Given the description of an element on the screen output the (x, y) to click on. 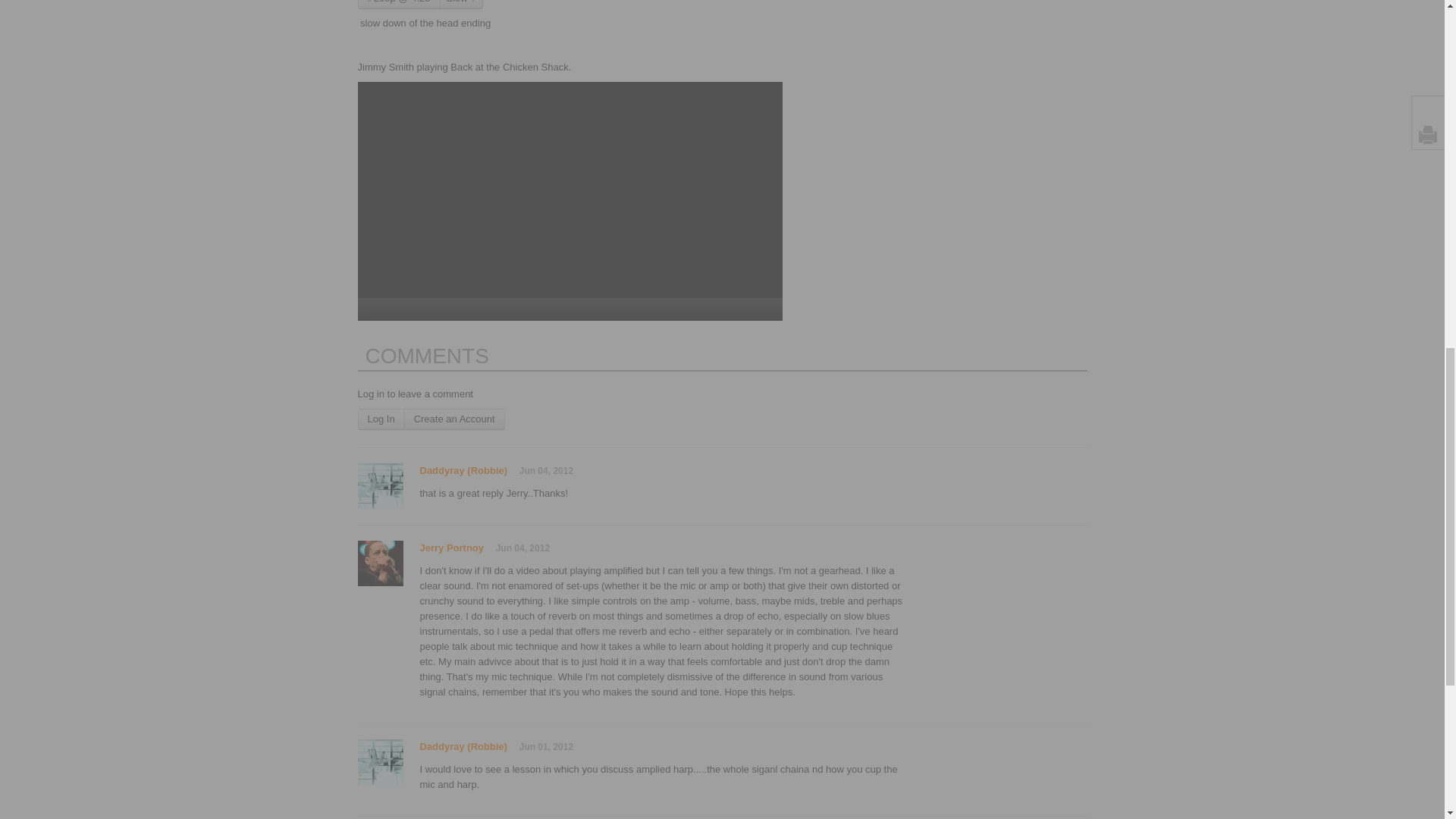
Create an Account (454, 418)
Slow (461, 4)
Log In (381, 418)
